Given the description of an element on the screen output the (x, y) to click on. 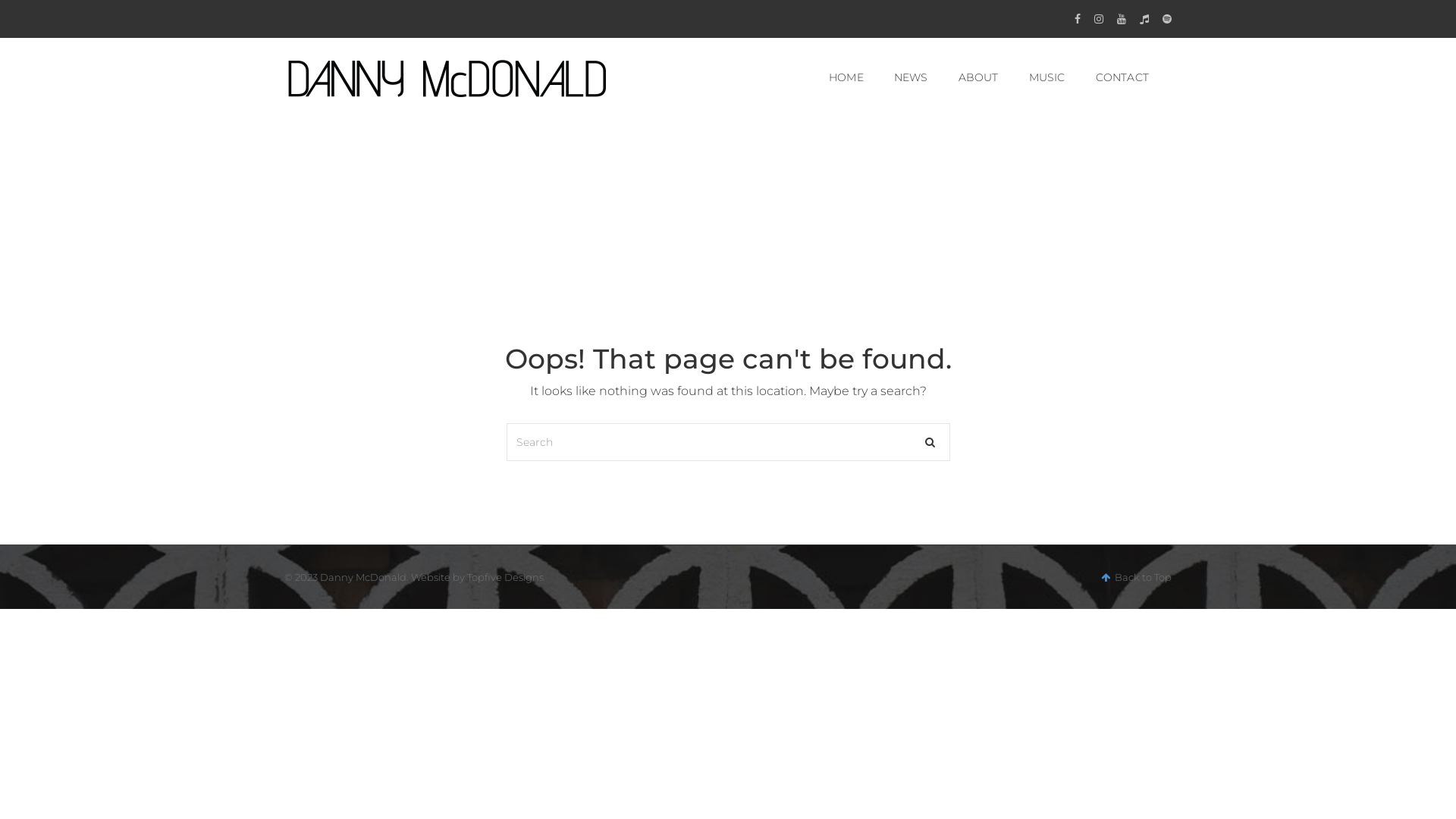
ABOUT Element type: text (978, 77)
NEWS Element type: text (910, 77)
HOME Element type: text (845, 77)
MUSIC Element type: text (1046, 77)
 Back to Top Element type: text (1136, 577)
CONTACT Element type: text (1122, 77)
